Given the description of an element on the screen output the (x, y) to click on. 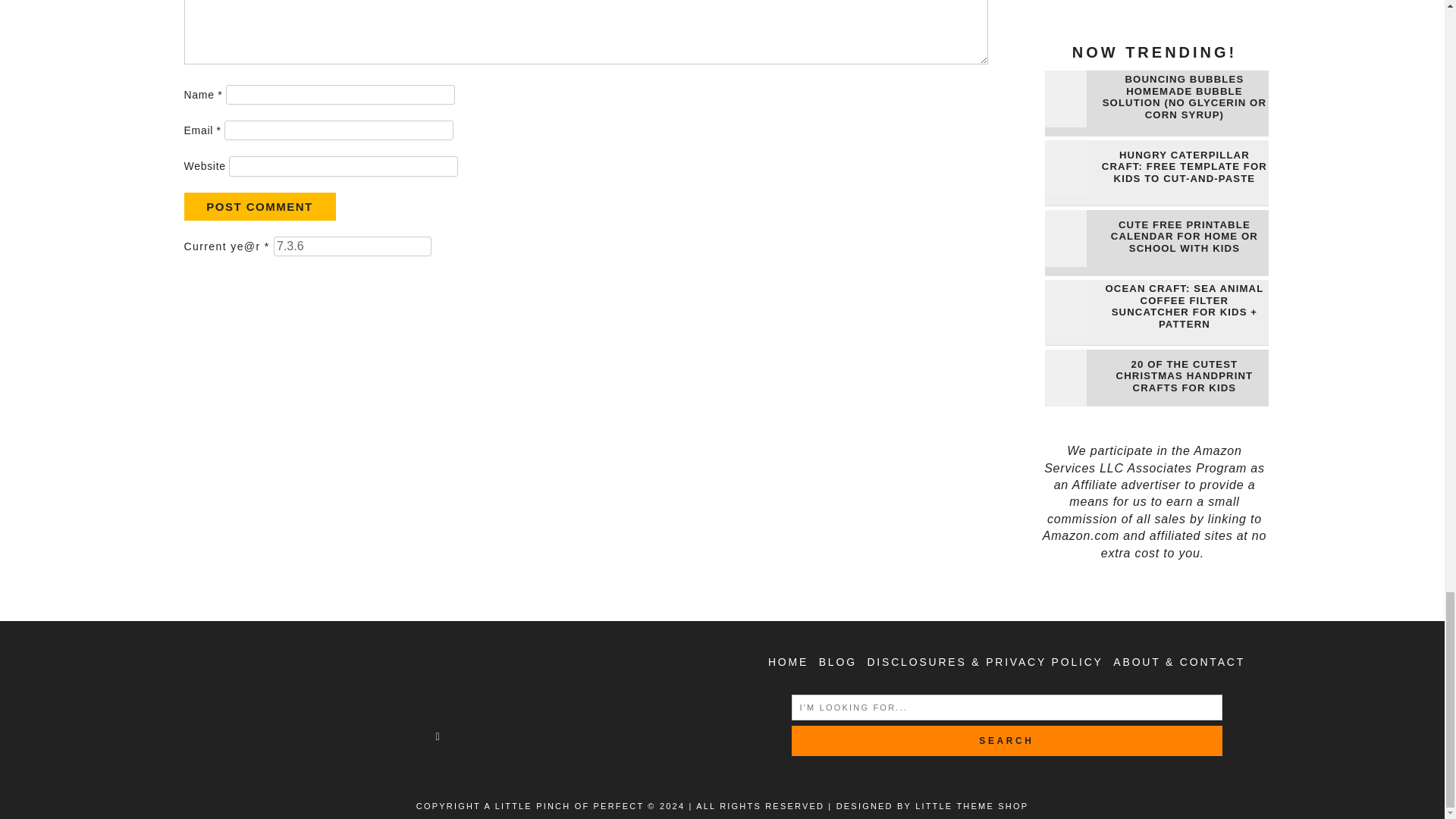
7.3.6 (351, 246)
Search (1007, 740)
Post Comment (258, 206)
Search (1007, 740)
